Given the description of an element on the screen output the (x, y) to click on. 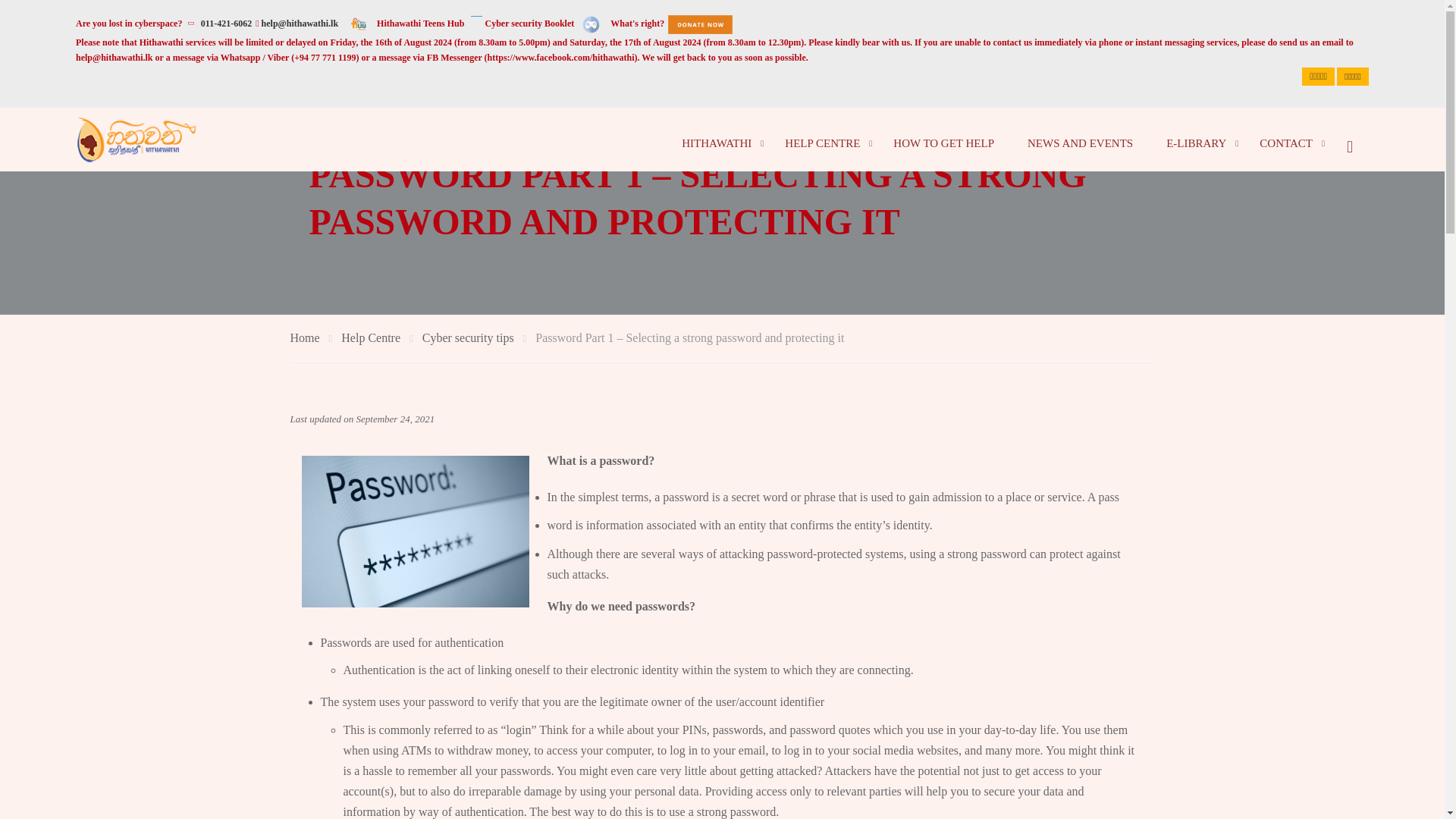
Search (1349, 140)
Cyber security Booklet (528, 23)
Search (1349, 140)
HITHAWATHI (716, 143)
Hithawathi Teens Hub (420, 23)
011-421-6062 (225, 23)
Hithawathi - Your Confidante in Cyberspace (135, 139)
What's right? (636, 23)
